Given the description of an element on the screen output the (x, y) to click on. 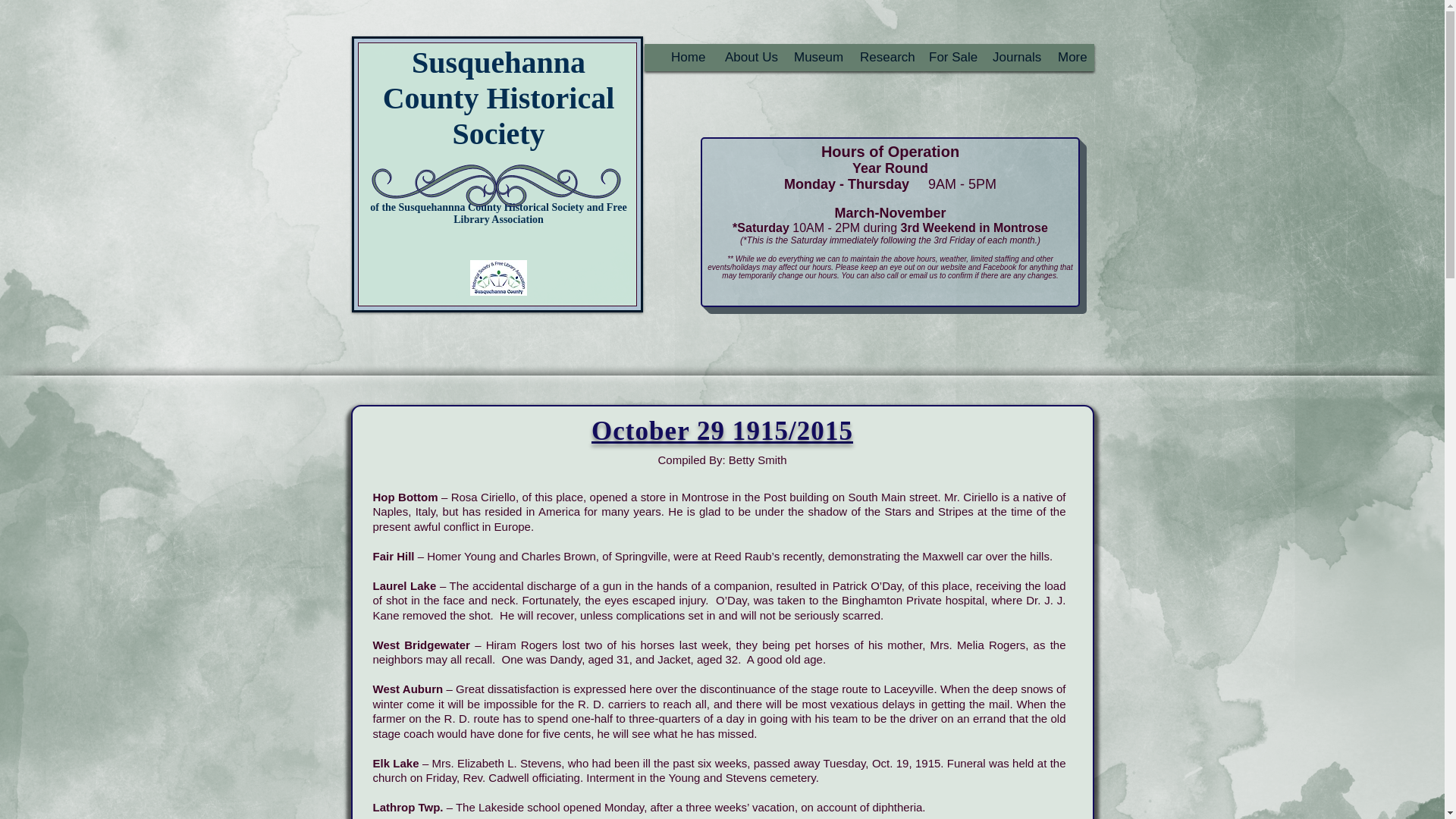
Home (683, 57)
Museum (811, 57)
Journals (1010, 57)
About Us (745, 57)
Susquehanna County Historical Society (498, 97)
For Sale (946, 57)
